Given the description of an element on the screen output the (x, y) to click on. 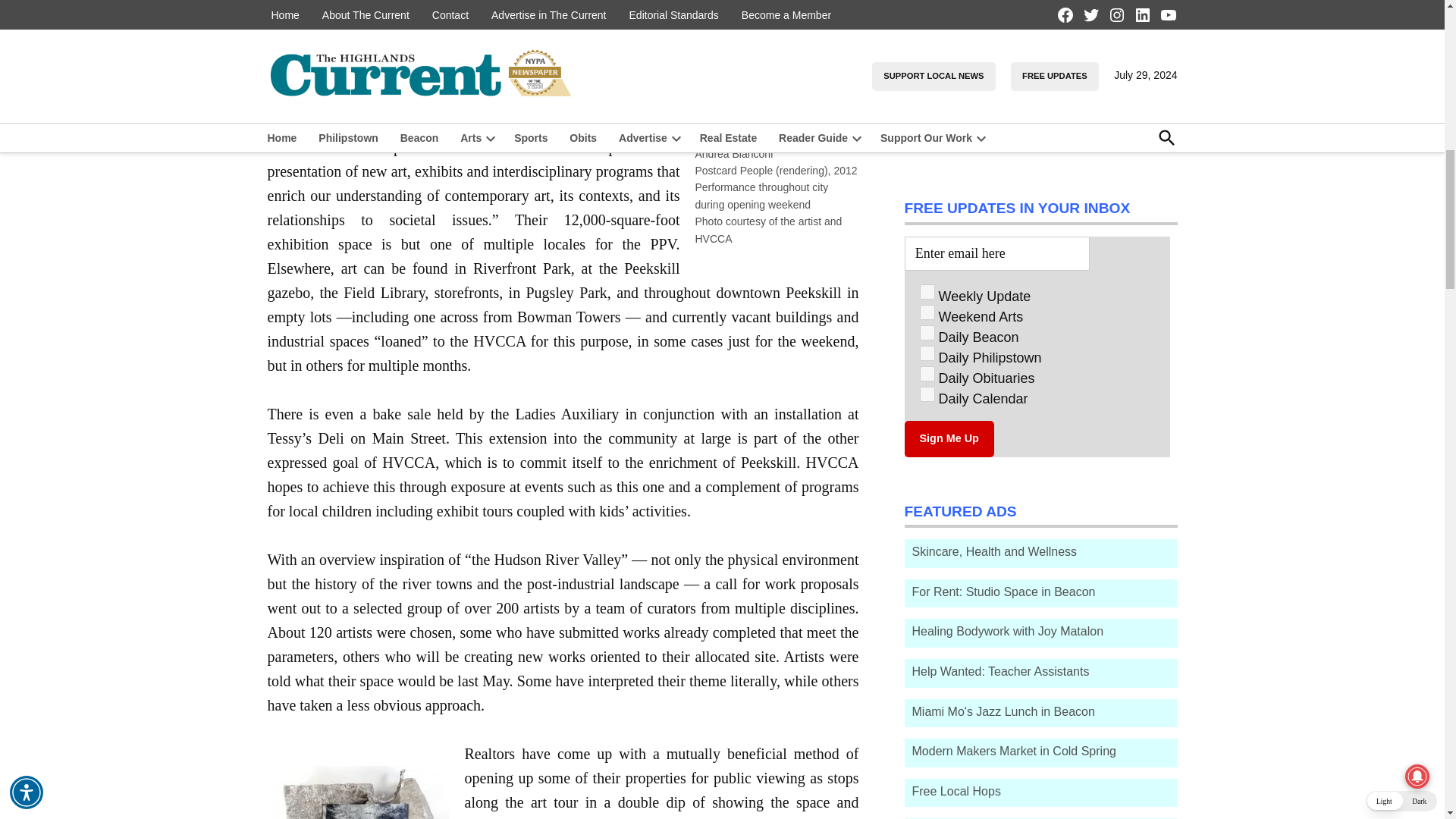
Enter email here (996, 253)
Sign Me Up (948, 438)
